Given the description of an element on the screen output the (x, y) to click on. 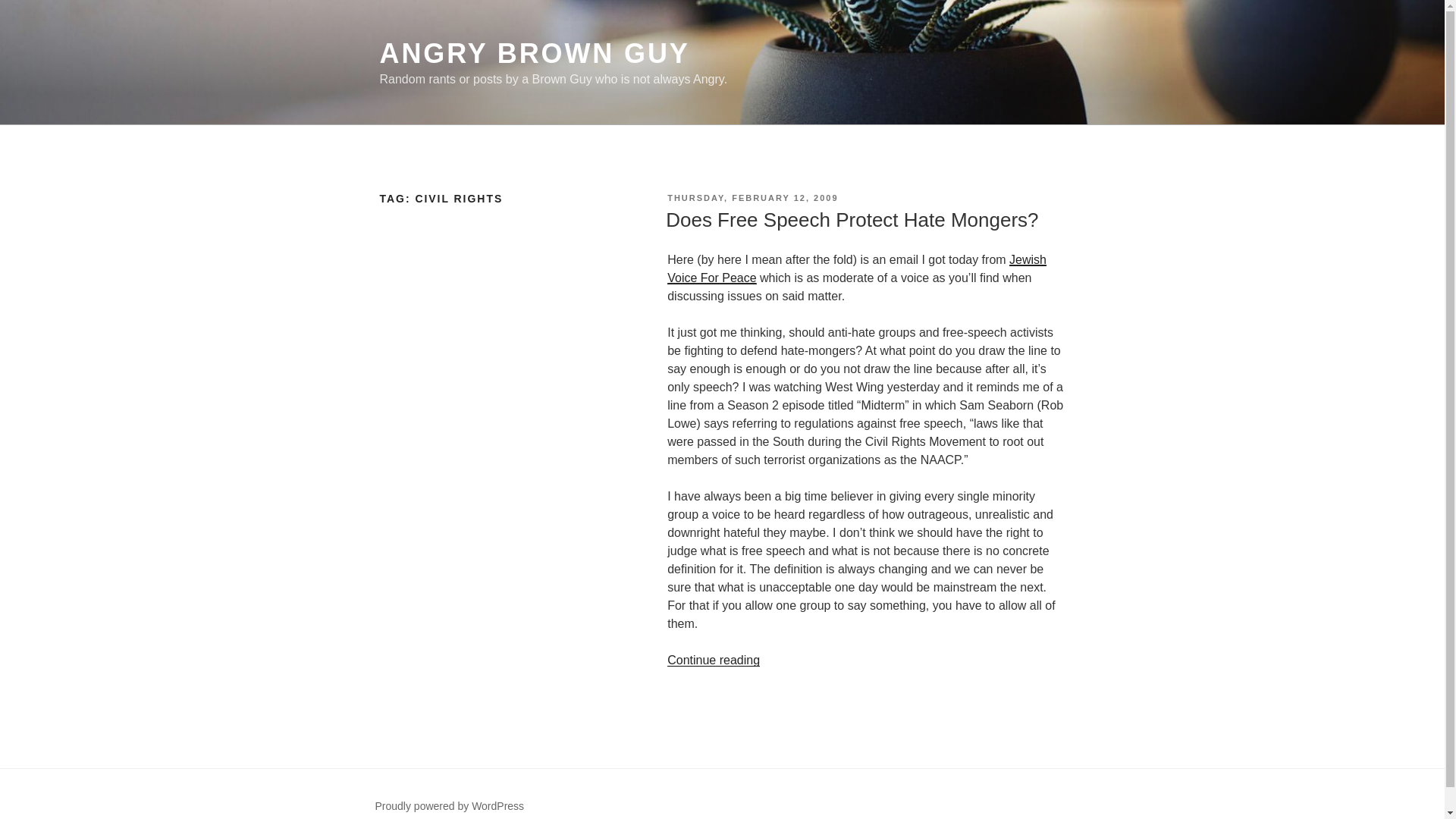
Jewish Voice For Peace (856, 268)
THURSDAY, FEBRUARY 12, 2009 (752, 197)
Proudly powered by WordPress (449, 806)
ANGRY BROWN GUY (533, 52)
Does Free Speech Protect Hate Mongers? (851, 219)
